Given the description of an element on the screen output the (x, y) to click on. 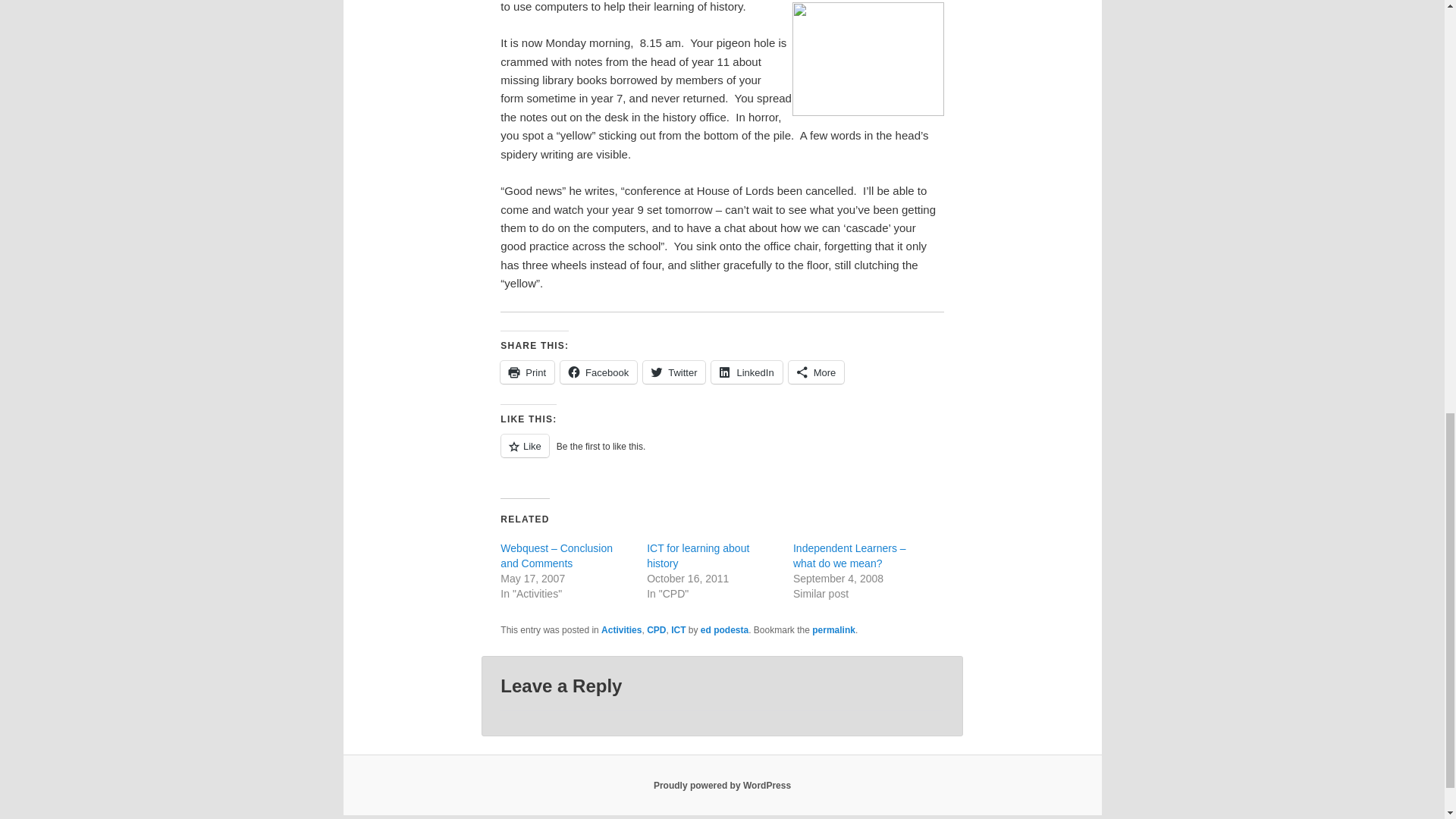
Like or Reblog (721, 454)
Click to print (527, 372)
Click to share on Facebook (598, 372)
Click to share on LinkedIn (746, 372)
ICT for learning about history (697, 555)
Click to share on Twitter (673, 372)
